Given the description of an element on the screen output the (x, y) to click on. 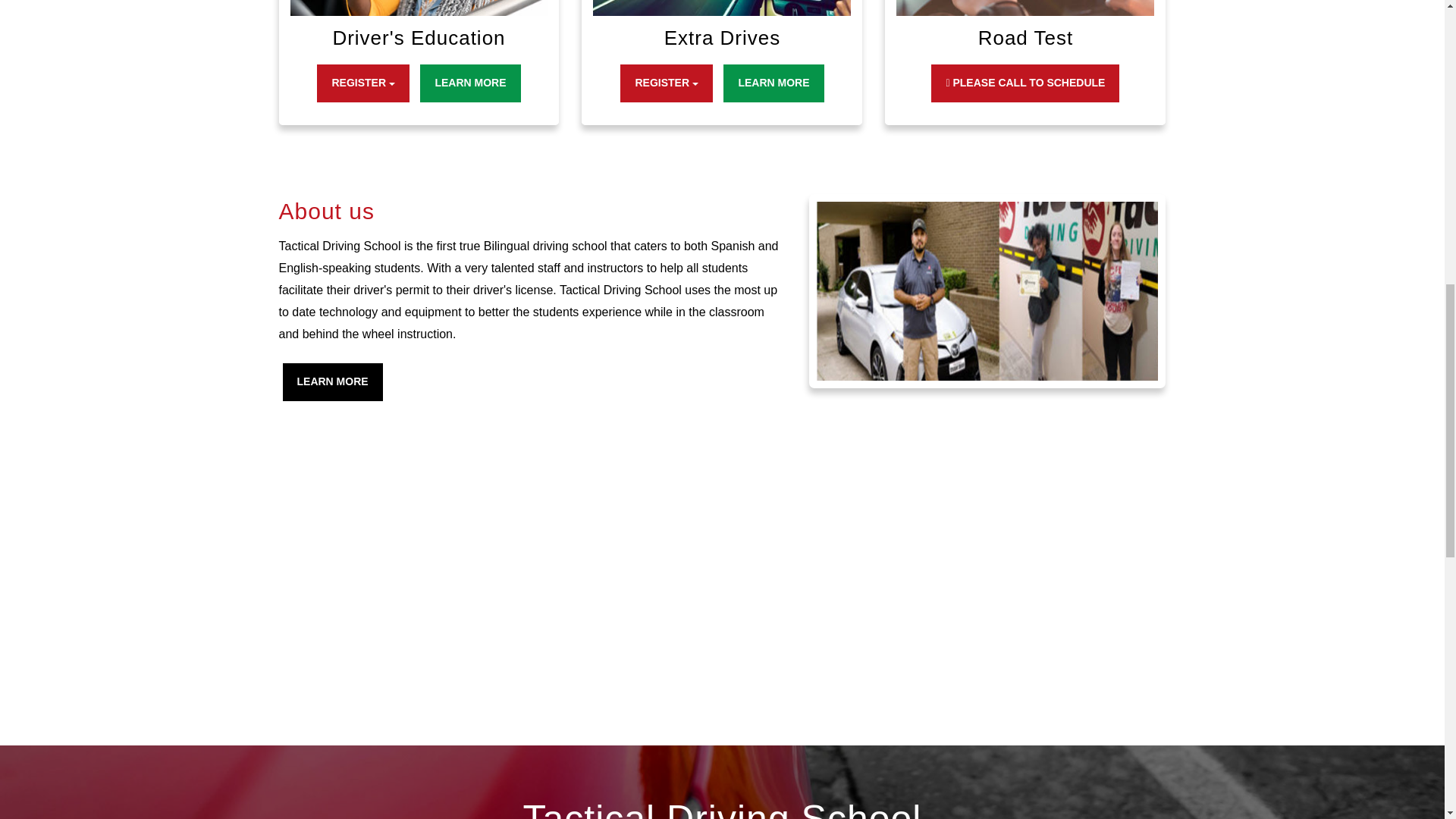
REGISTER (665, 83)
REGISTER (363, 83)
LEARN MORE (331, 382)
LEARN MORE (469, 83)
LEARN MORE (773, 83)
PLEASE CALL TO SCHEDULE (1025, 83)
